Given the description of an element on the screen output the (x, y) to click on. 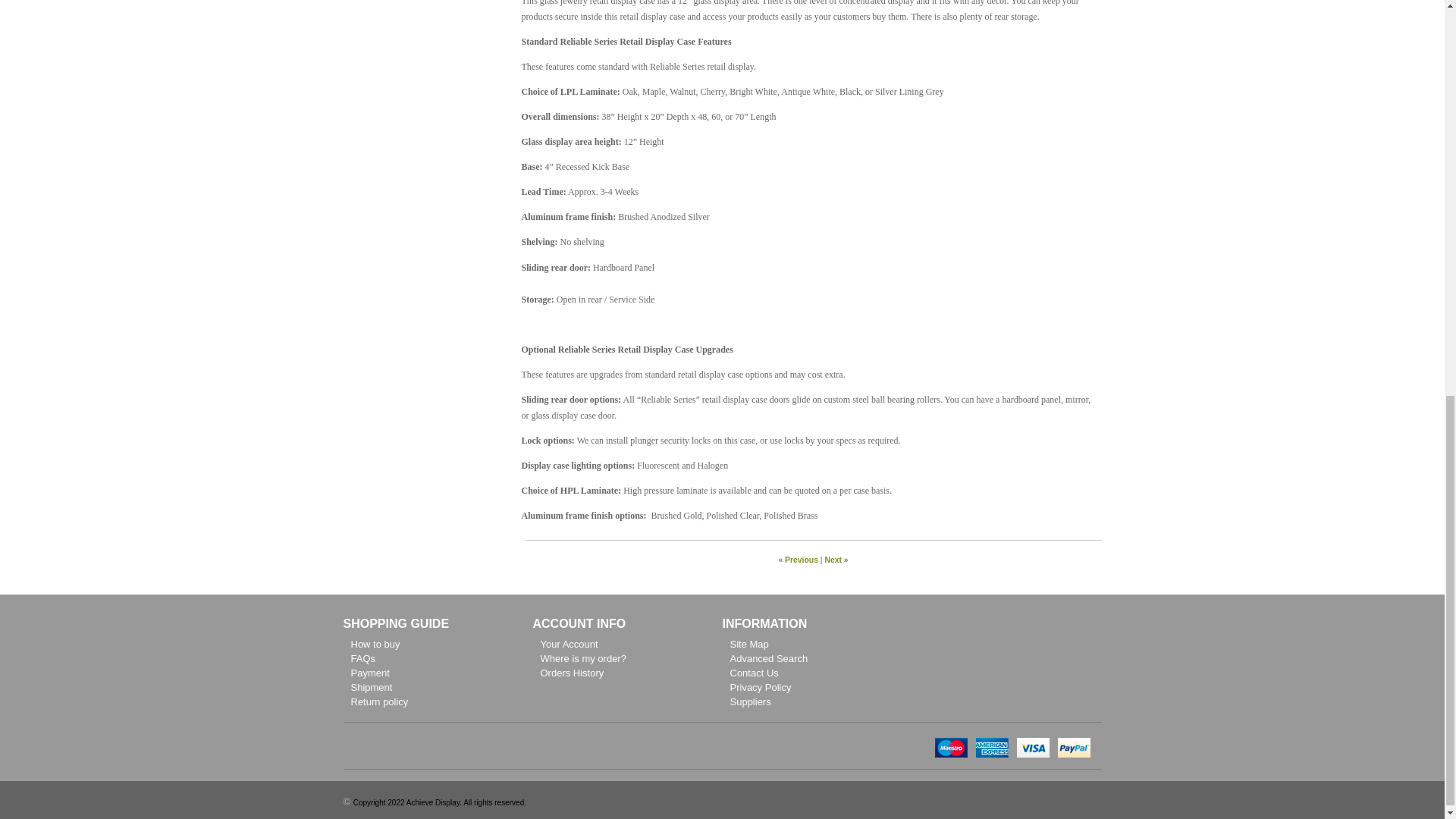
Return policy (378, 701)
Where is my order? (583, 658)
Payment (369, 672)
Shipment (370, 686)
How to buy (374, 644)
FAQs (362, 658)
